Given the description of an element on the screen output the (x, y) to click on. 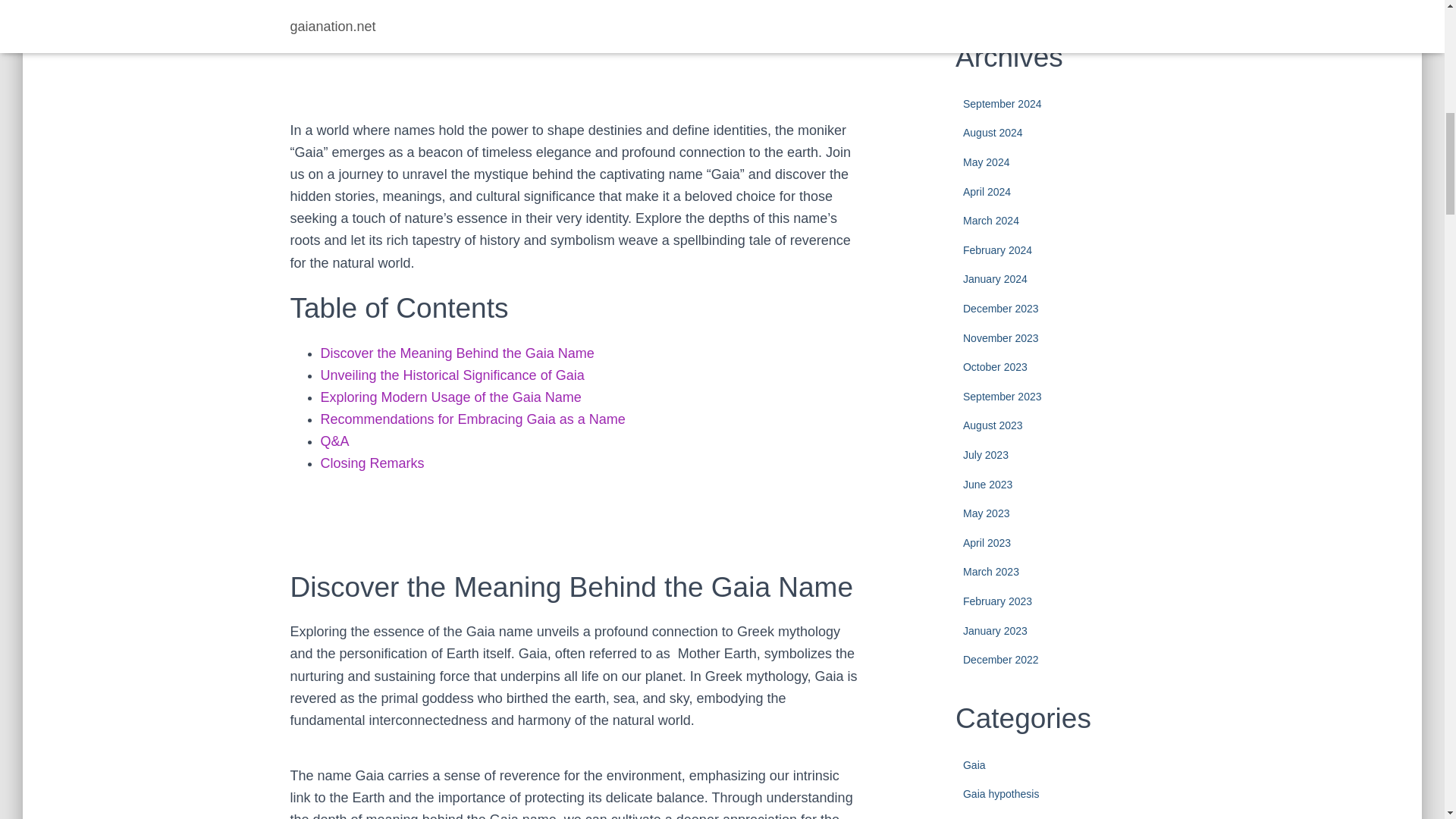
March 2024 (990, 220)
April 2024 (986, 191)
January 2024 (994, 278)
December 2023 (1000, 308)
May 2024 (985, 162)
August 2024 (992, 132)
February 2024 (997, 250)
Hello world! (1066, 4)
September 2024 (1002, 103)
